Given the description of an element on the screen output the (x, y) to click on. 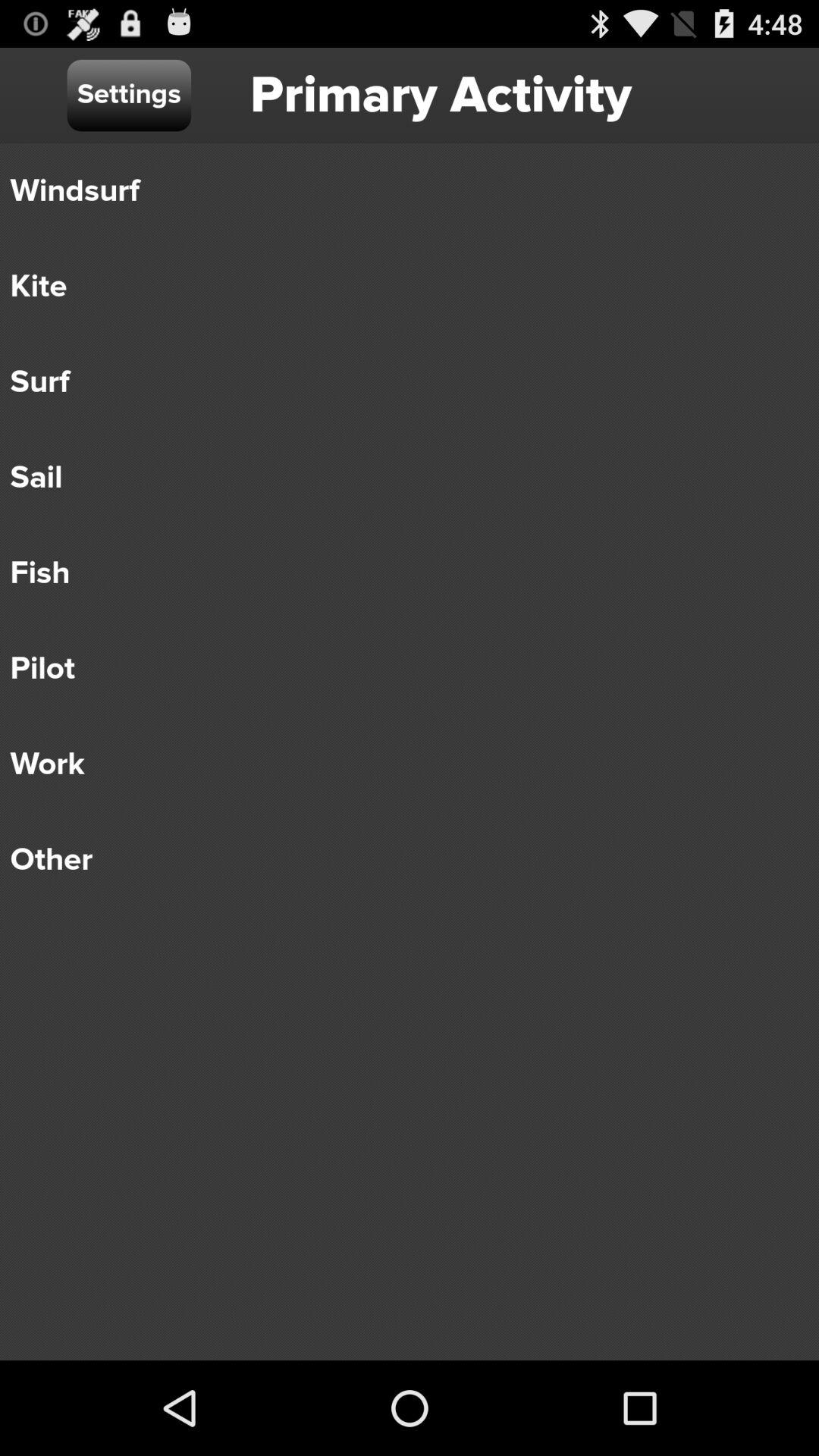
choose the work (399, 763)
